Given the description of an element on the screen output the (x, y) to click on. 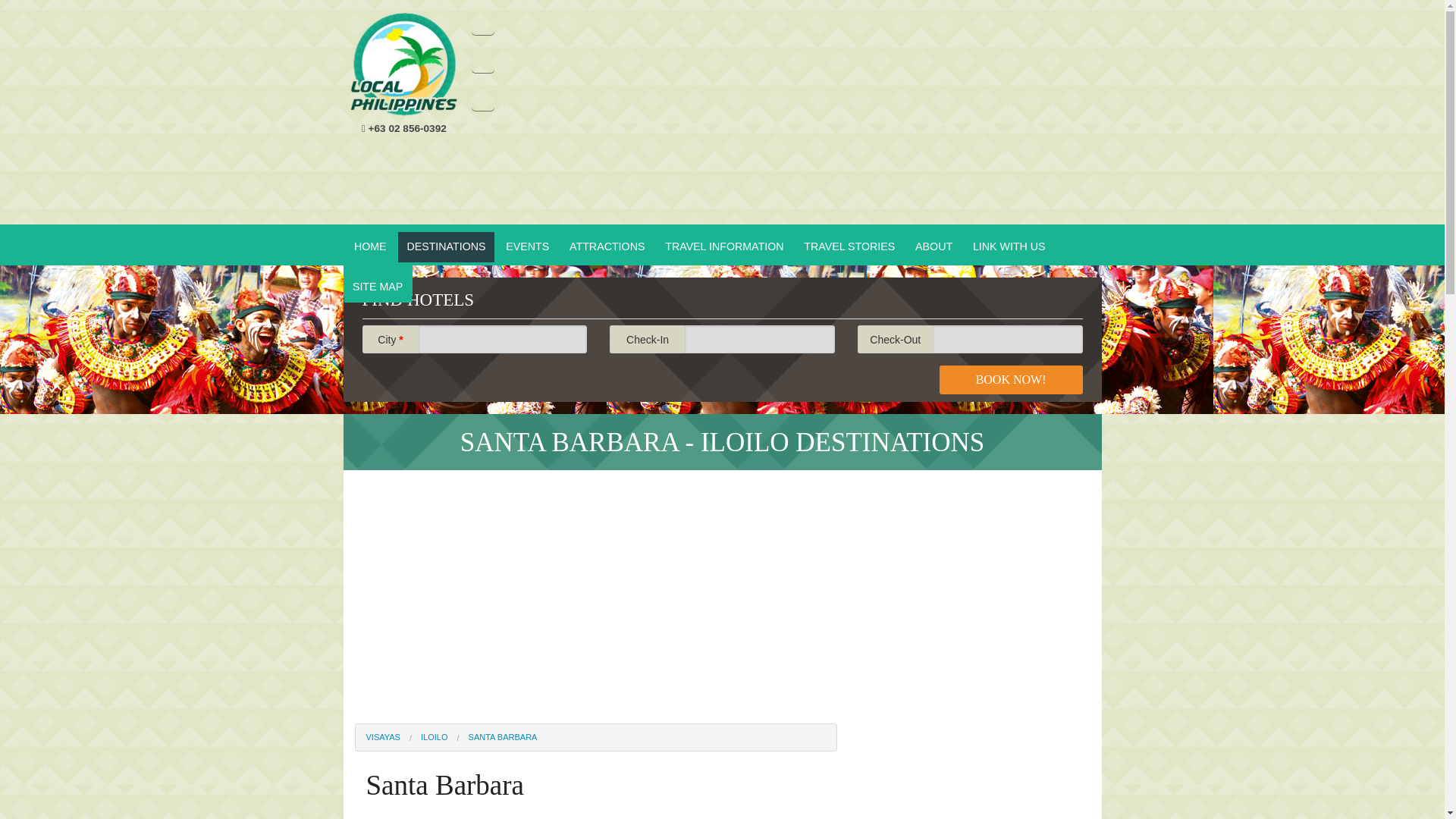
LINK WITH US (1008, 246)
ATTRACTIONS (606, 246)
VISAYAS (381, 737)
Advertisement (595, 587)
Follow us on Twitter (483, 60)
TRAVEL STORIES (849, 246)
Advertisement (814, 118)
Like us on Facebook (483, 23)
SANTA BARBARA (491, 737)
SITE MAP (377, 286)
